Given the description of an element on the screen output the (x, y) to click on. 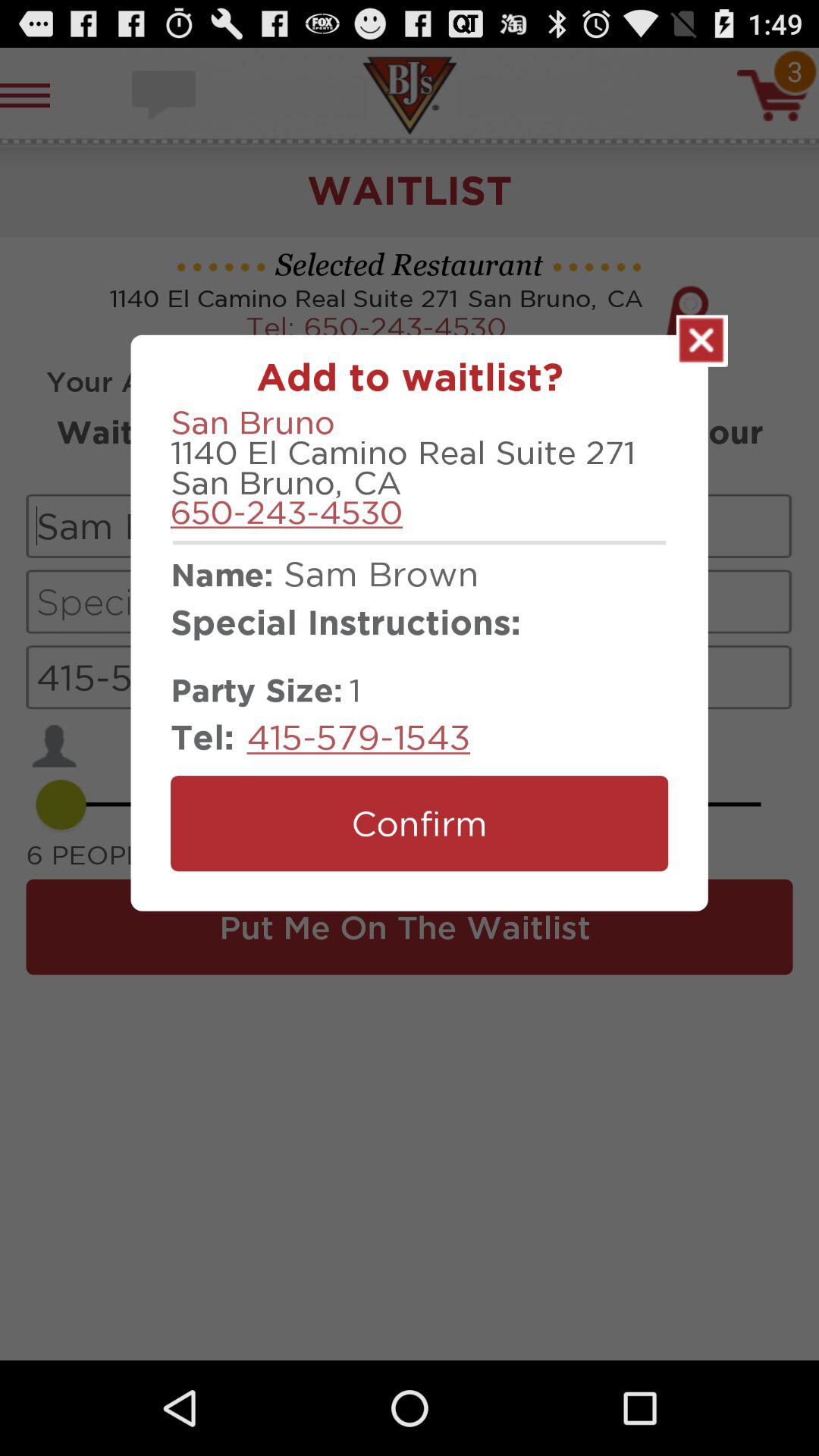
launch icon below the 1140 el camino app (286, 511)
